Given the description of an element on the screen output the (x, y) to click on. 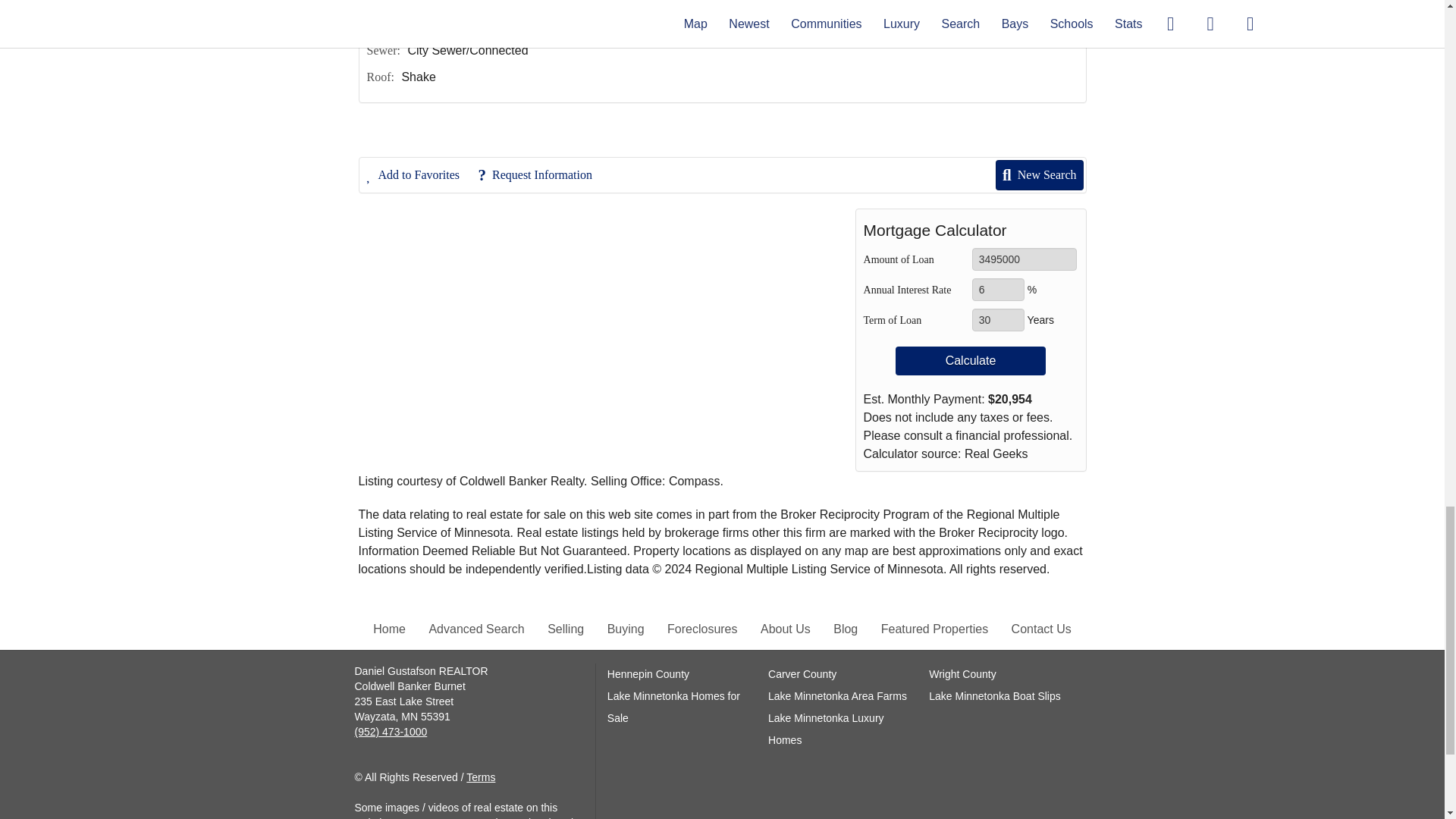
3495000 (1024, 259)
30 (998, 319)
6 (998, 289)
